Given the description of an element on the screen output the (x, y) to click on. 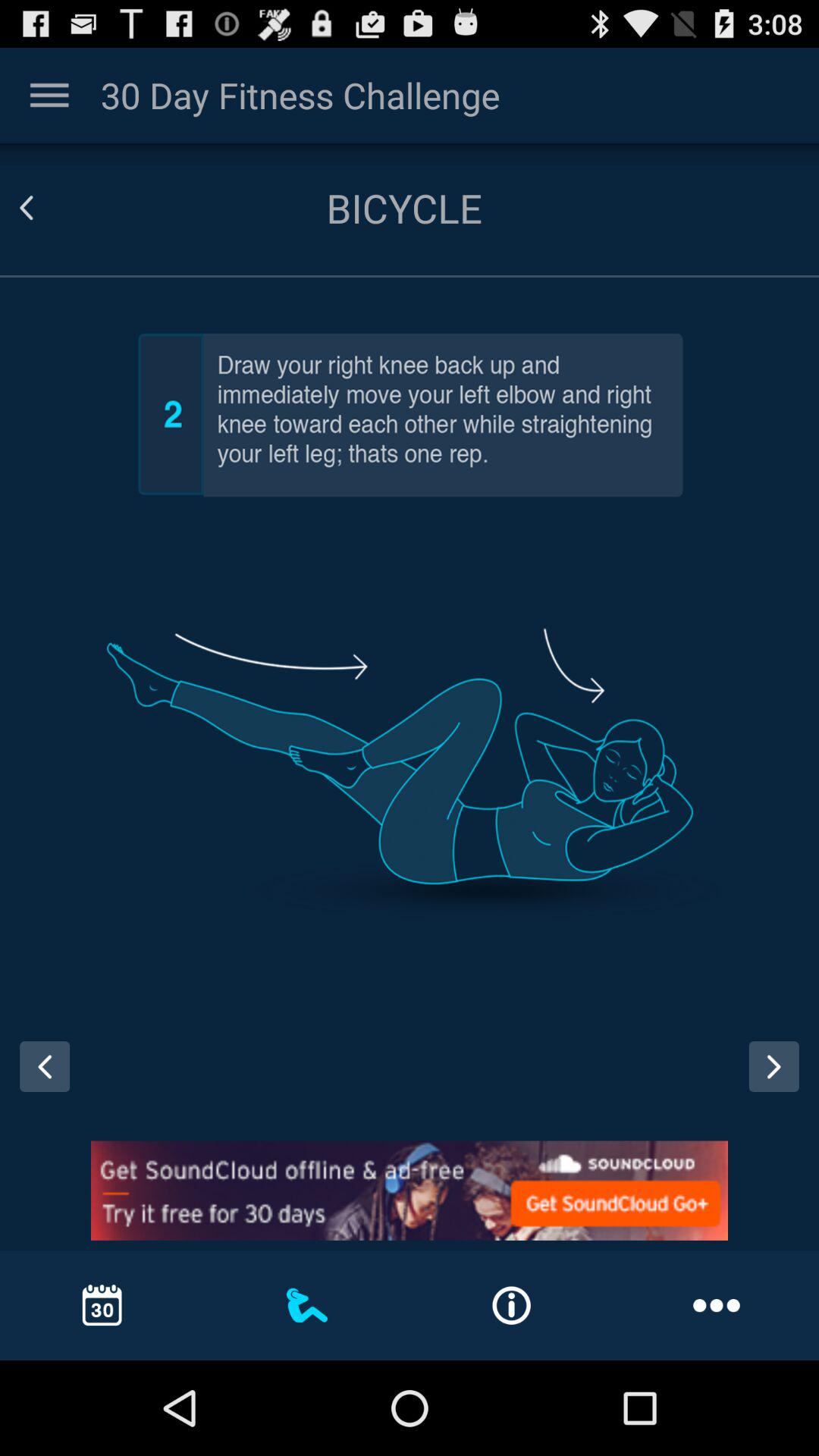
go to the next (779, 1081)
